Given the description of an element on the screen output the (x, y) to click on. 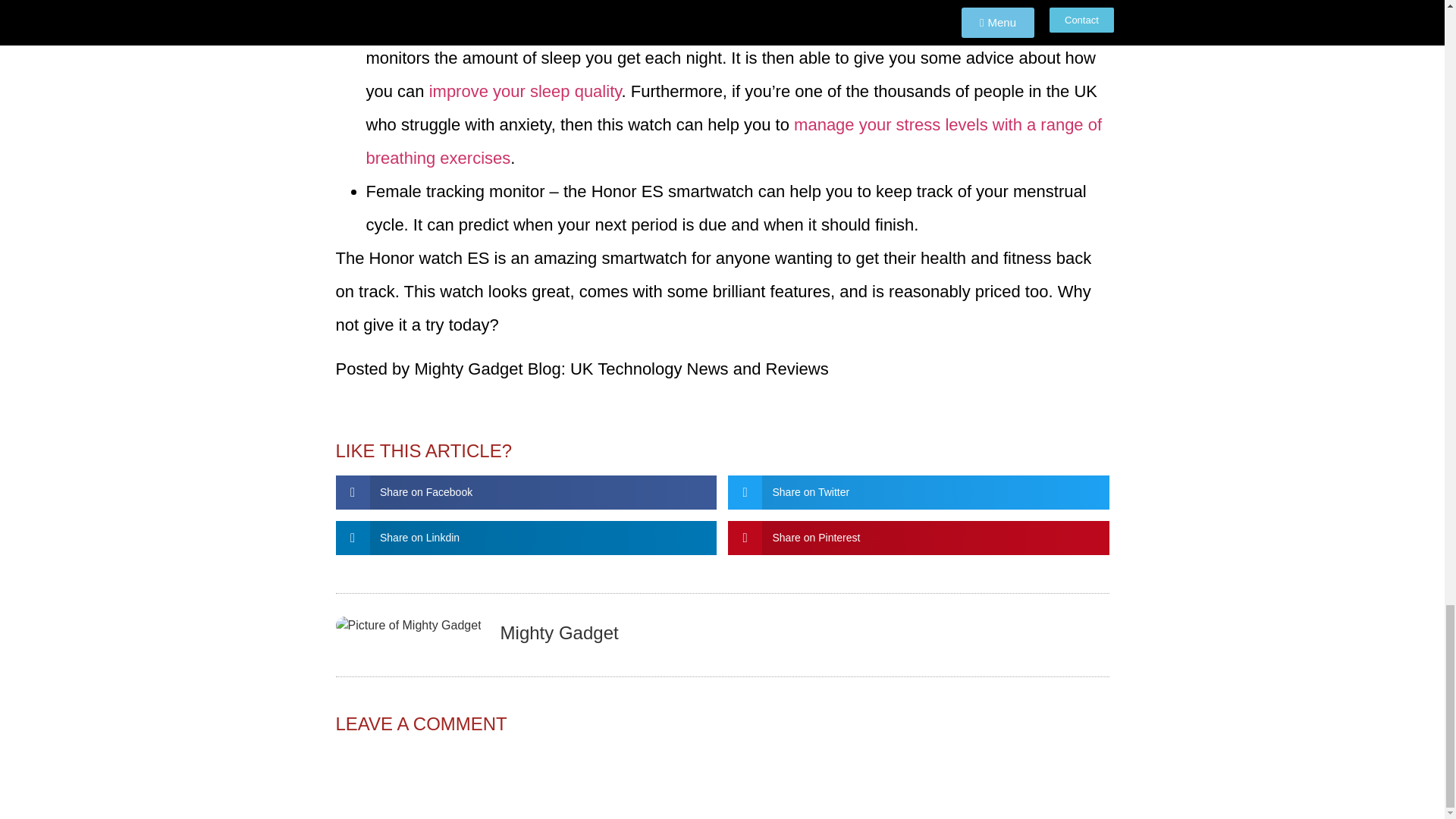
improve your sleep quality (525, 90)
